Given the description of an element on the screen output the (x, y) to click on. 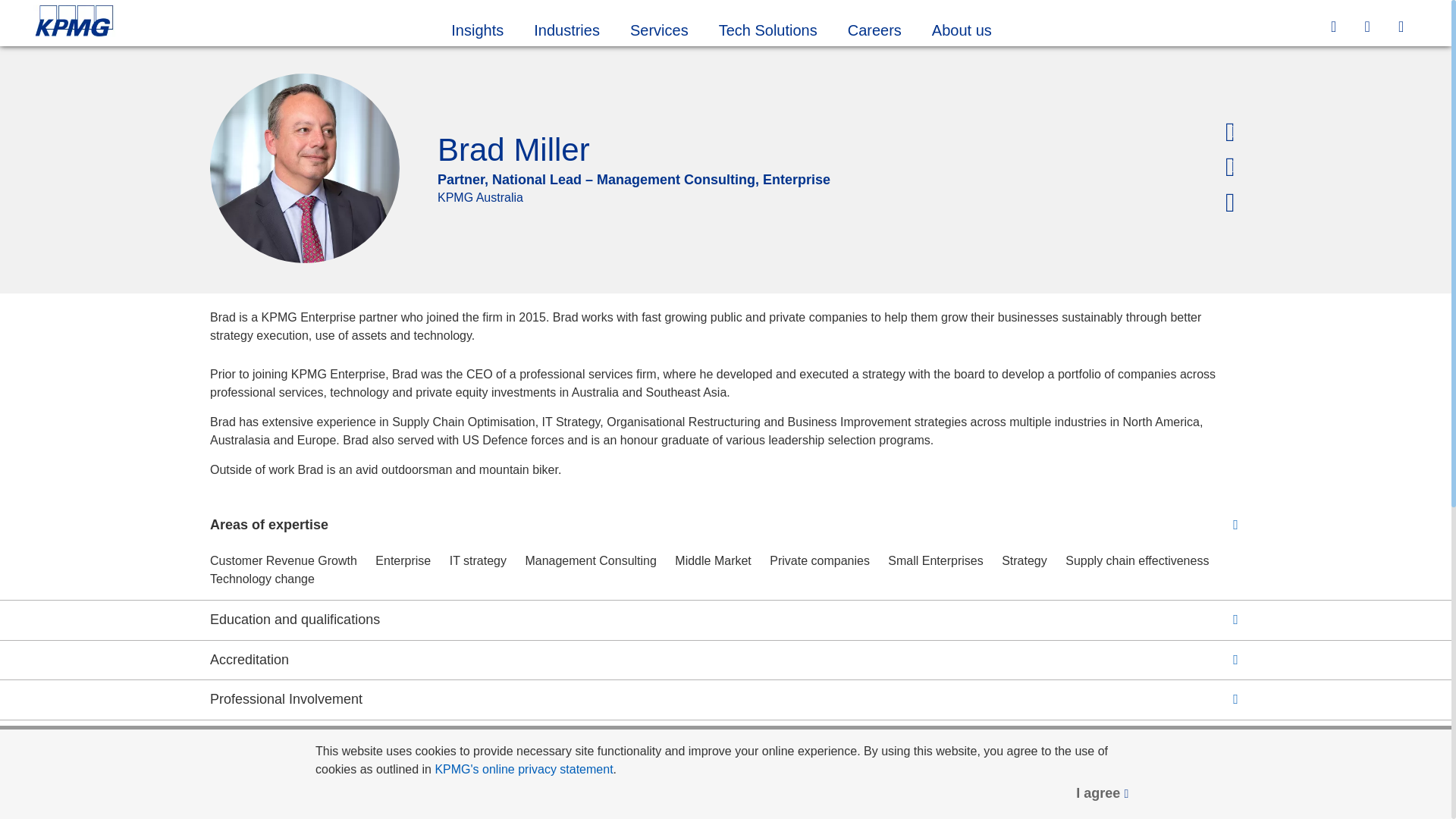
Insights (476, 28)
Tech Solutions (767, 28)
Industries (566, 28)
Services (658, 28)
I agree (1103, 793)
KPMG's online privacy statement (522, 768)
